Given the description of an element on the screen output the (x, y) to click on. 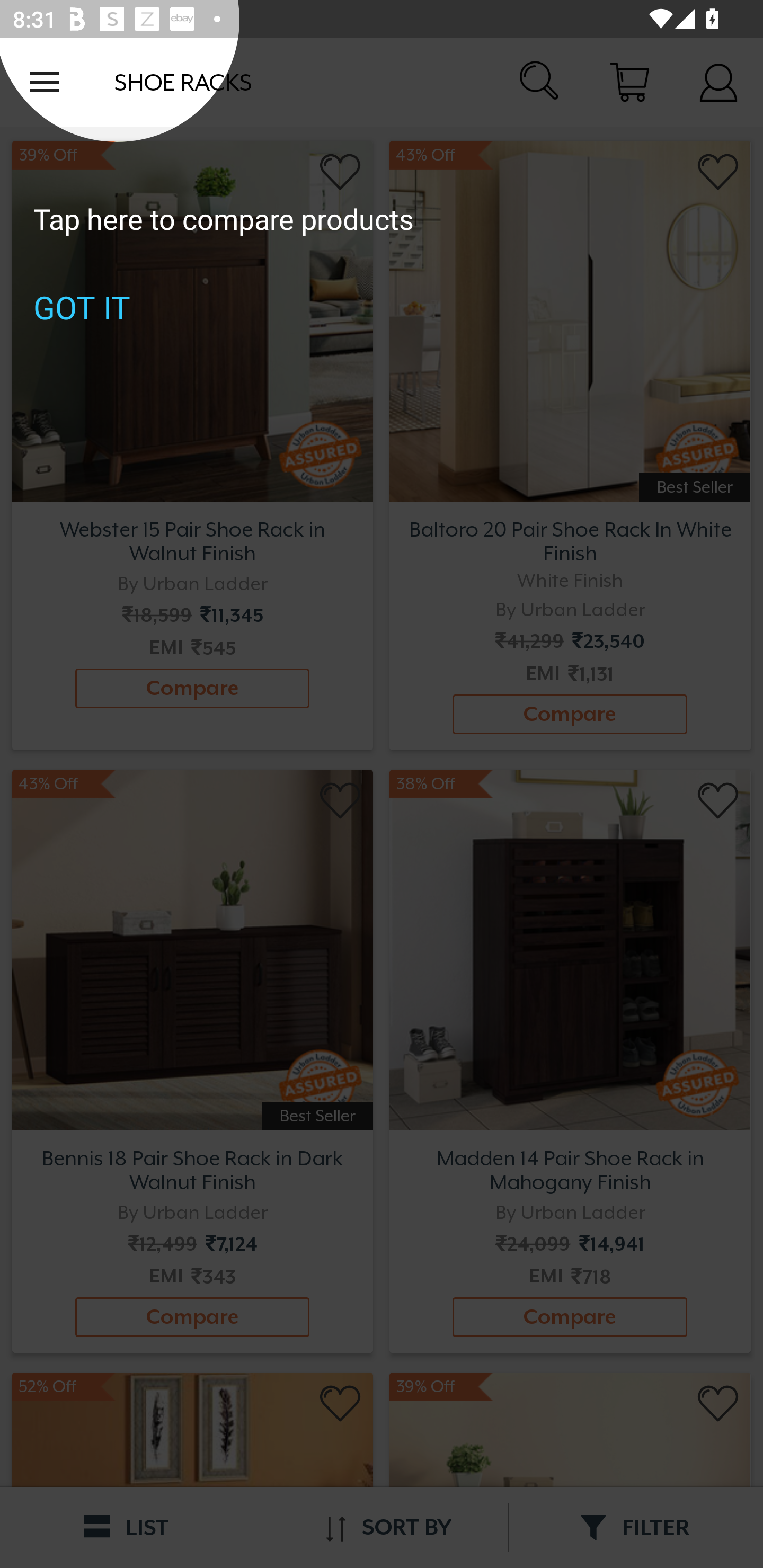
Open navigation drawer (44, 82)
GOT IT (81, 306)
